Given the description of an element on the screen output the (x, y) to click on. 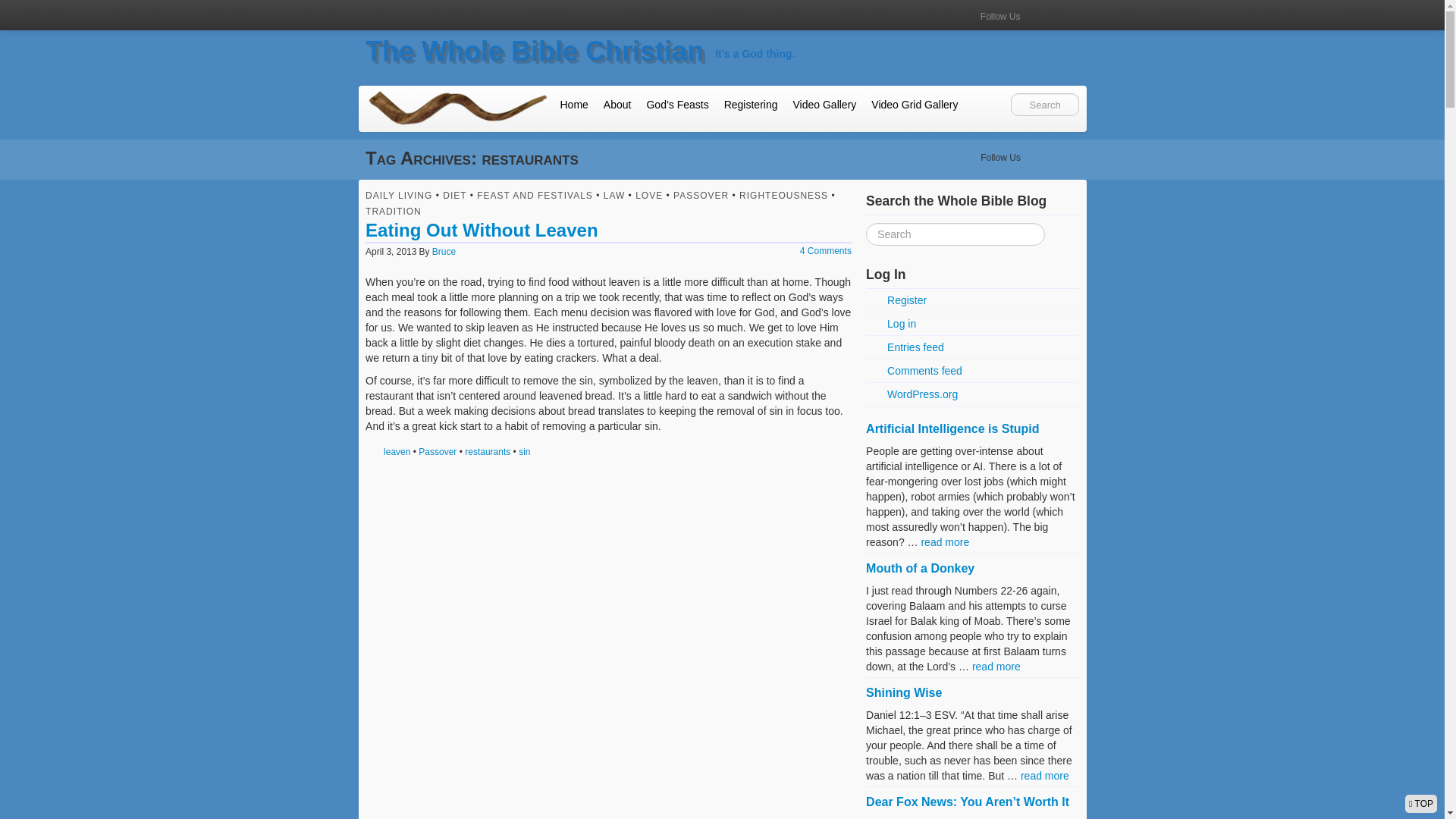
read more (944, 541)
RSS Feed (1066, 155)
DAILY LIVING (398, 195)
YouTube (1039, 155)
RSS Feed (1066, 14)
Comments feed (972, 371)
About (617, 104)
YouTube (1039, 155)
Permalink to Shining Wise (904, 692)
read more (996, 666)
Register (972, 300)
Permalink to Artificial Intelligence is Stupid (952, 428)
Permalink to Mouth of a Donkey (920, 567)
View all posts by Bruce (443, 251)
TRADITION (393, 211)
